Given the description of an element on the screen output the (x, y) to click on. 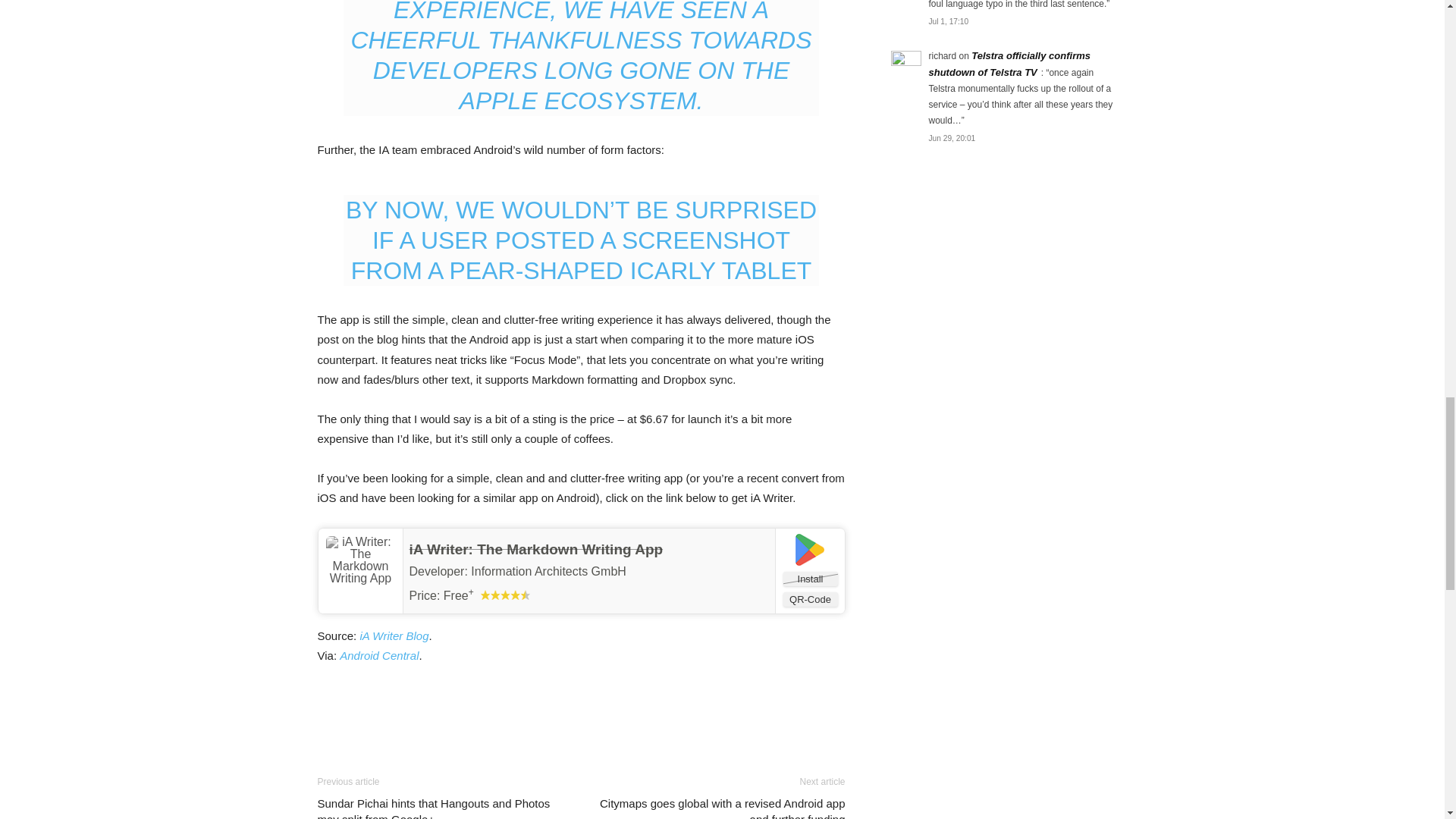
iA Writer: The Markdown Writing App (536, 549)
4.5 of 5 stars (504, 594)
